Given the description of an element on the screen output the (x, y) to click on. 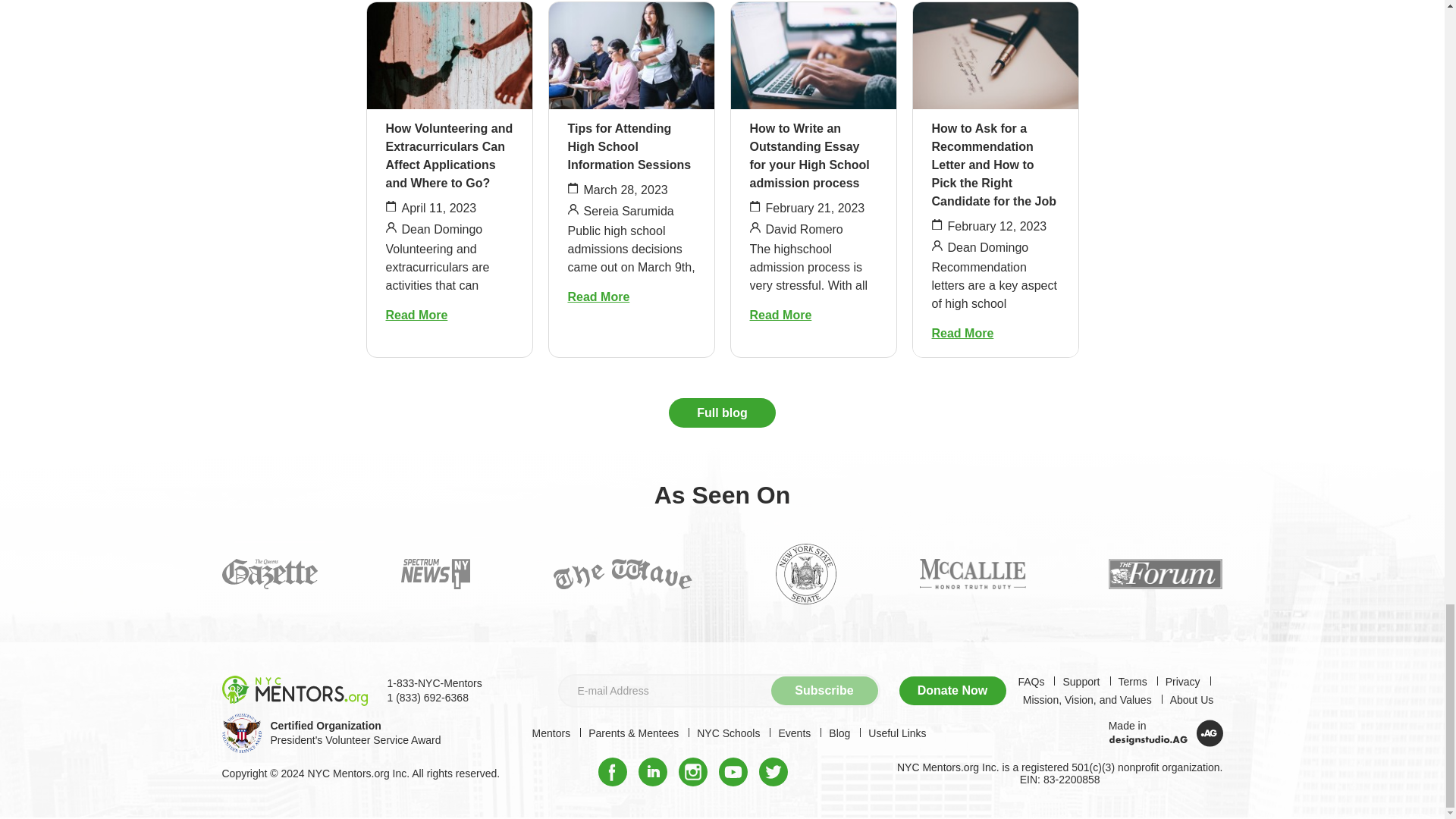
Read More (415, 314)
FAQs (1030, 681)
Tips for Attending High School Information Sessions (628, 146)
Terms (1132, 681)
Read More (961, 332)
Support (1080, 681)
Donate Now (952, 690)
Subscribe (823, 690)
Read More (597, 296)
Read More (779, 314)
Full blog (722, 412)
